Given the description of an element on the screen output the (x, y) to click on. 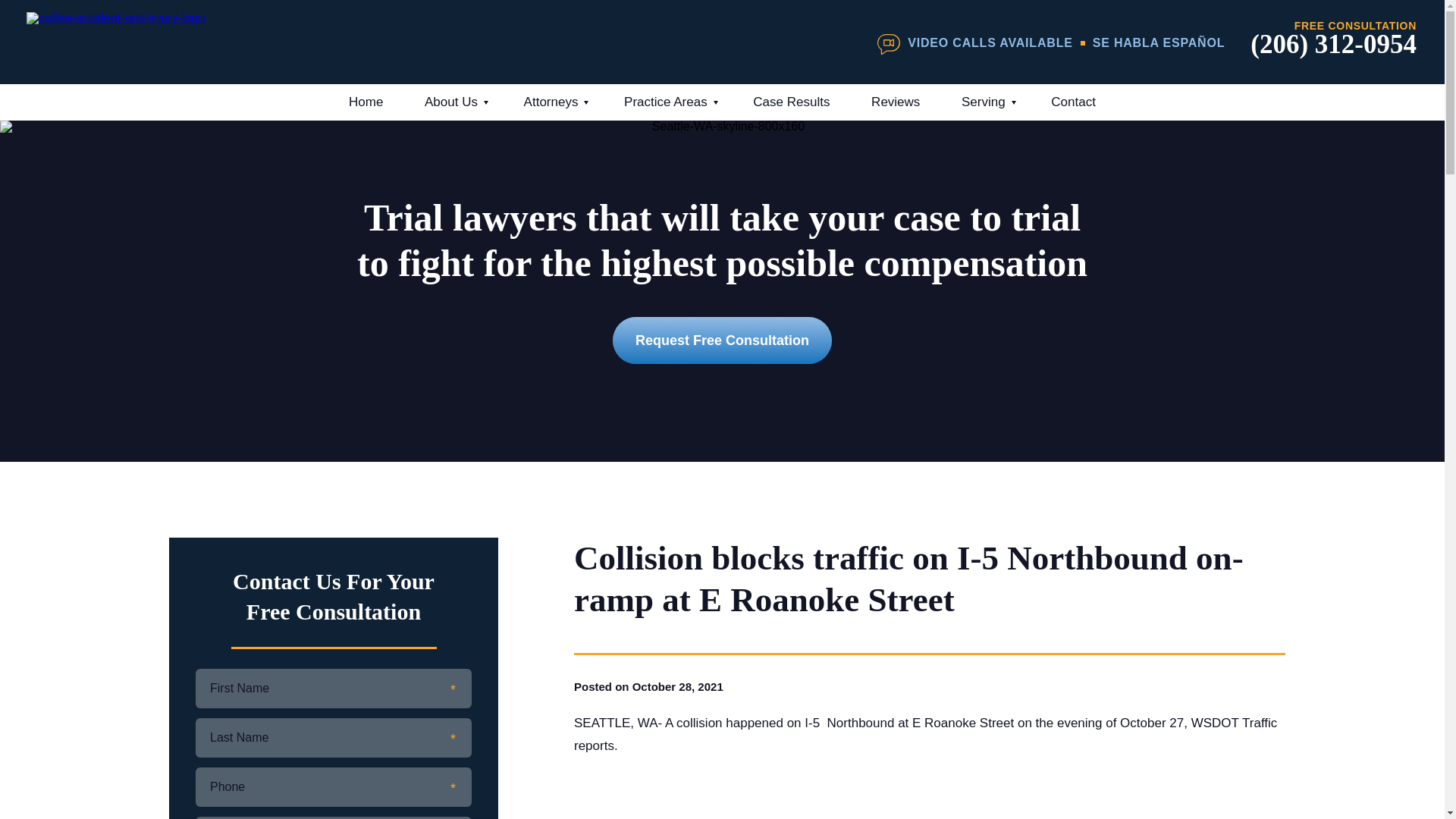
Request Free Consultation (721, 339)
Contact (1073, 102)
Serving (985, 102)
Case Results (790, 102)
Attorneys (553, 102)
About Us (453, 102)
Practice Areas (667, 102)
Home (365, 102)
Reviews (895, 102)
